Given the description of an element on the screen output the (x, y) to click on. 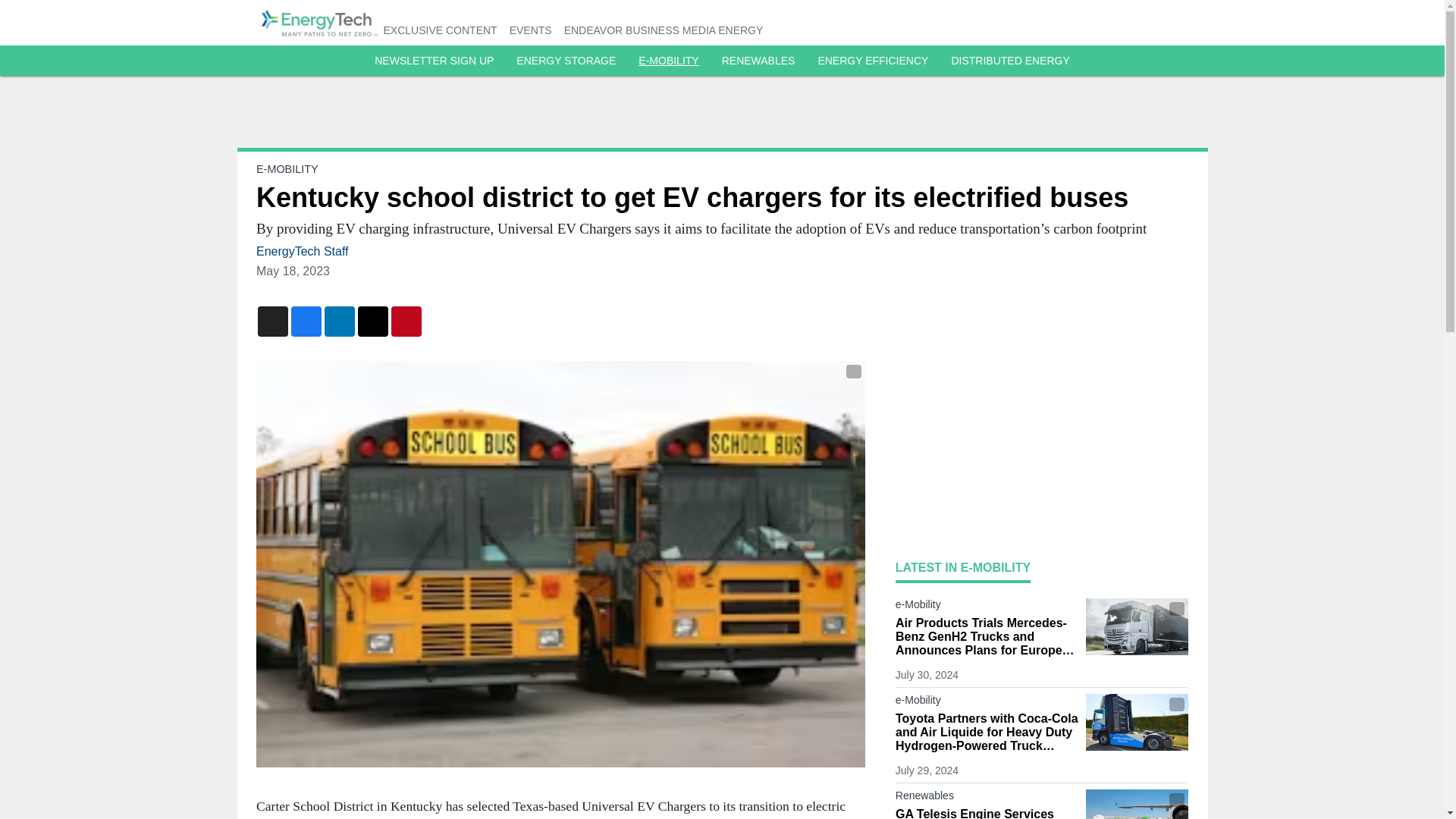
EVENTS (530, 30)
RENEWABLES (758, 60)
ENERGY EFFICIENCY (872, 60)
Renewables (986, 798)
ENERGY STORAGE (565, 60)
E-MOBILITY (287, 168)
DISTRIBUTED ENERGY (1009, 60)
EXCLUSIVE CONTENT (440, 30)
ENDEAVOR BUSINESS MEDIA ENERGY (663, 30)
